Given the description of an element on the screen output the (x, y) to click on. 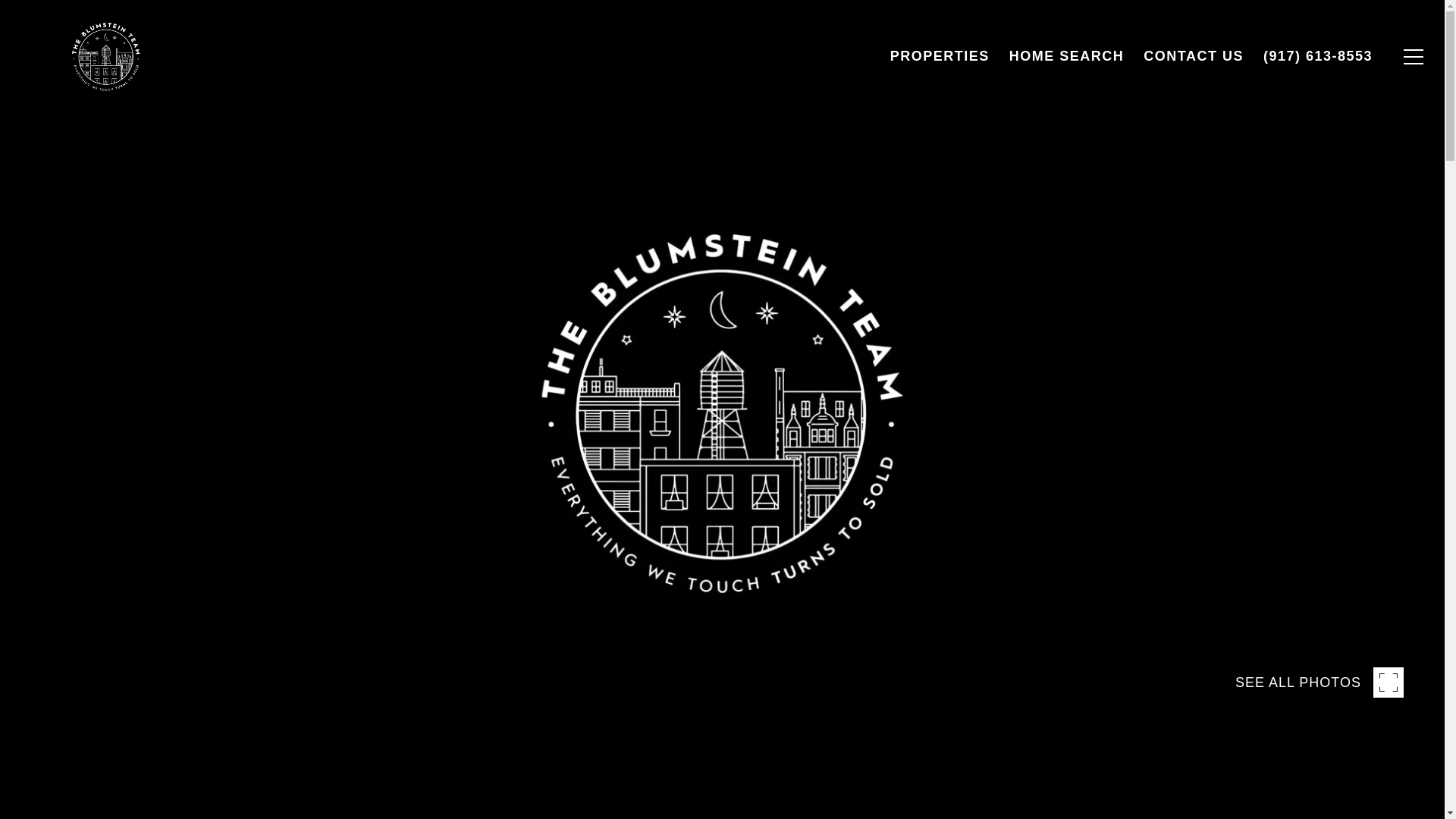
PROPERTIES (939, 56)
HOME SEARCH (1066, 56)
CONTACT US (1193, 56)
